Given the description of an element on the screen output the (x, y) to click on. 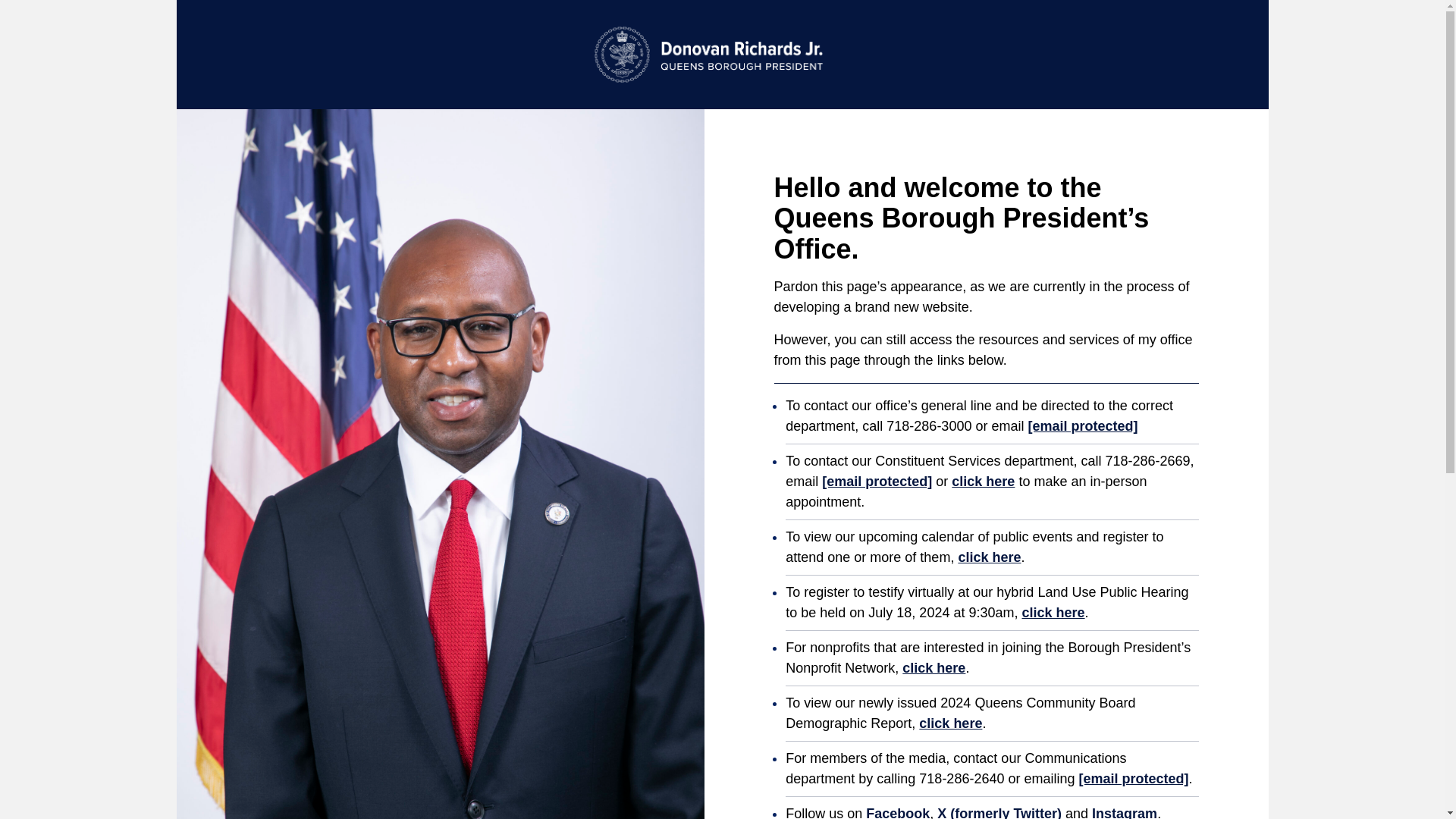
click here (949, 723)
click here (989, 557)
Instagram (1124, 812)
click here (983, 481)
click here (1053, 612)
click here (933, 667)
Facebook (898, 812)
